Given the description of an element on the screen output the (x, y) to click on. 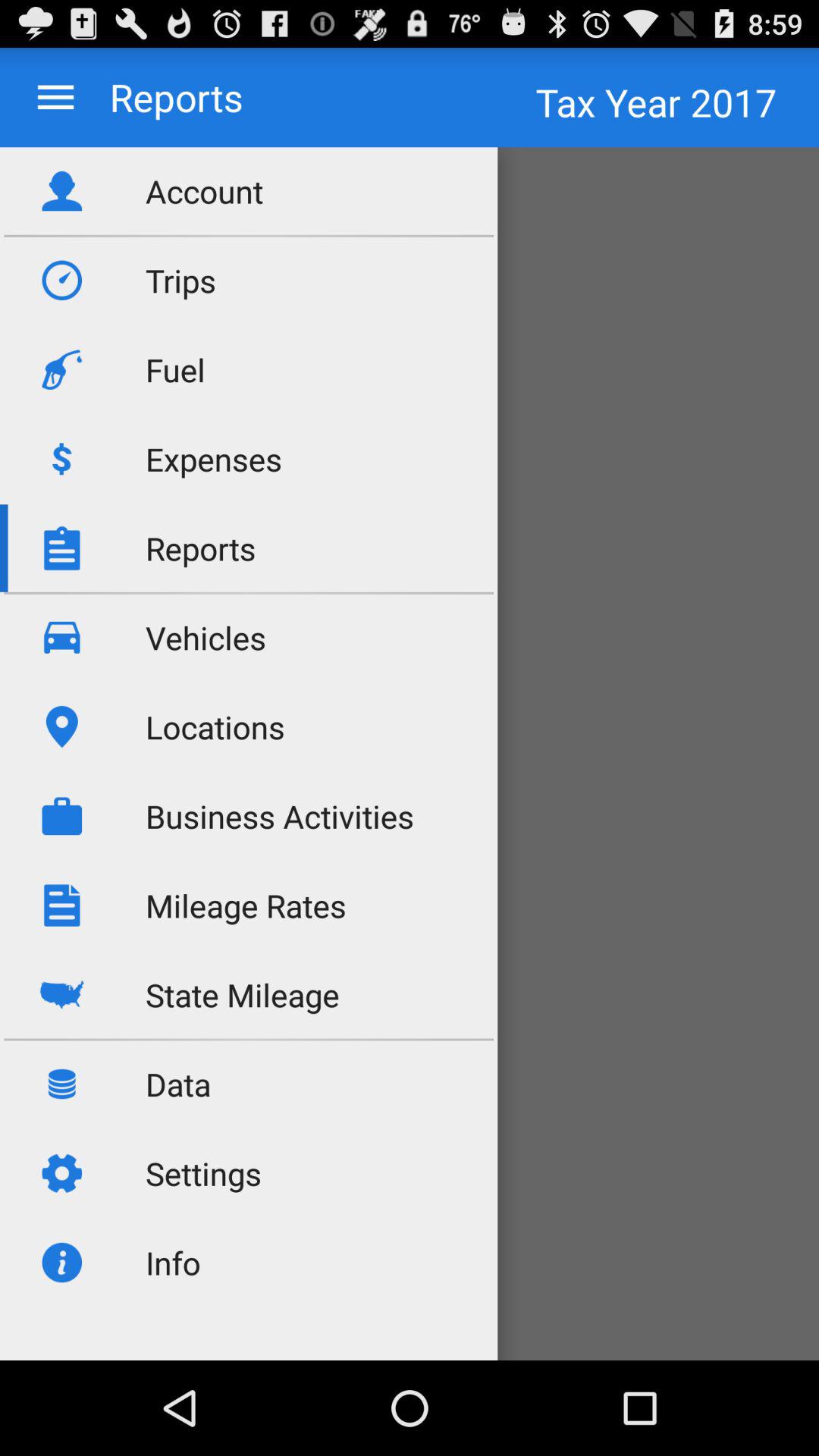
choose the fuel item (175, 369)
